Given the description of an element on the screen output the (x, y) to click on. 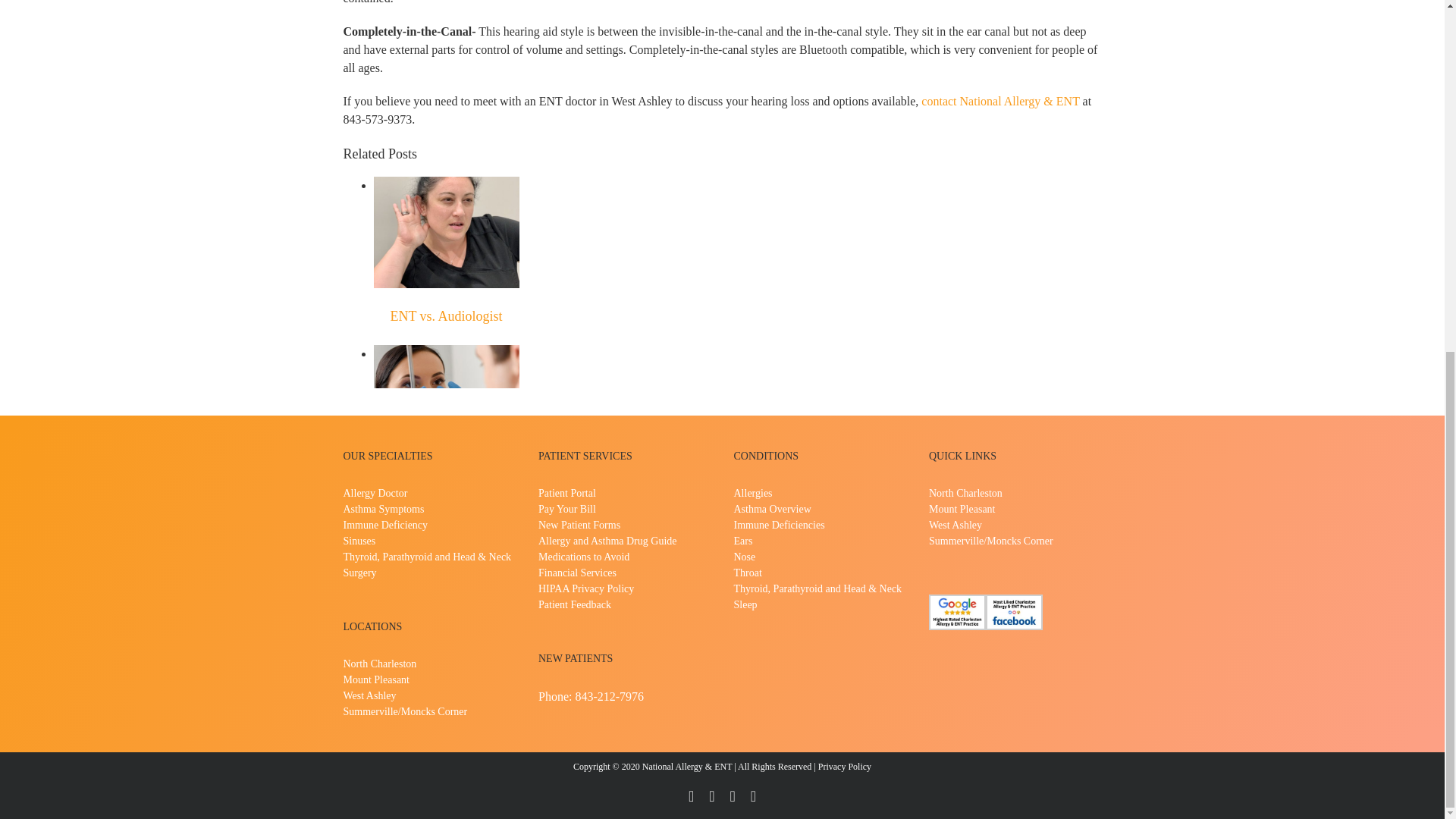
ENT vs. Audiologist (446, 315)
